Given the description of an element on the screen output the (x, y) to click on. 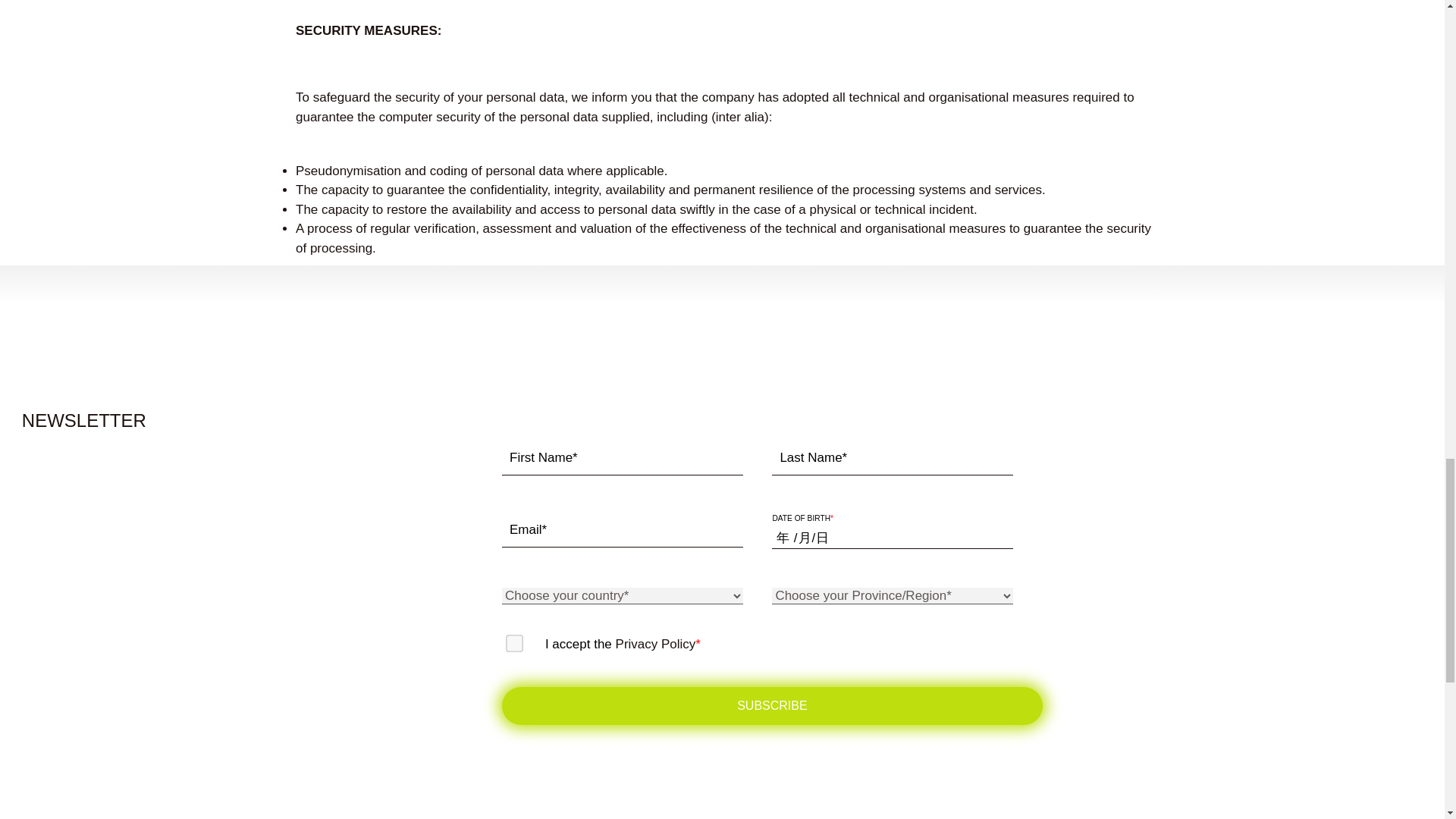
Privacy Policy (655, 644)
1 (510, 638)
SUBSCRIBE (772, 705)
SUBSCRIBE (772, 705)
